Given the description of an element on the screen output the (x, y) to click on. 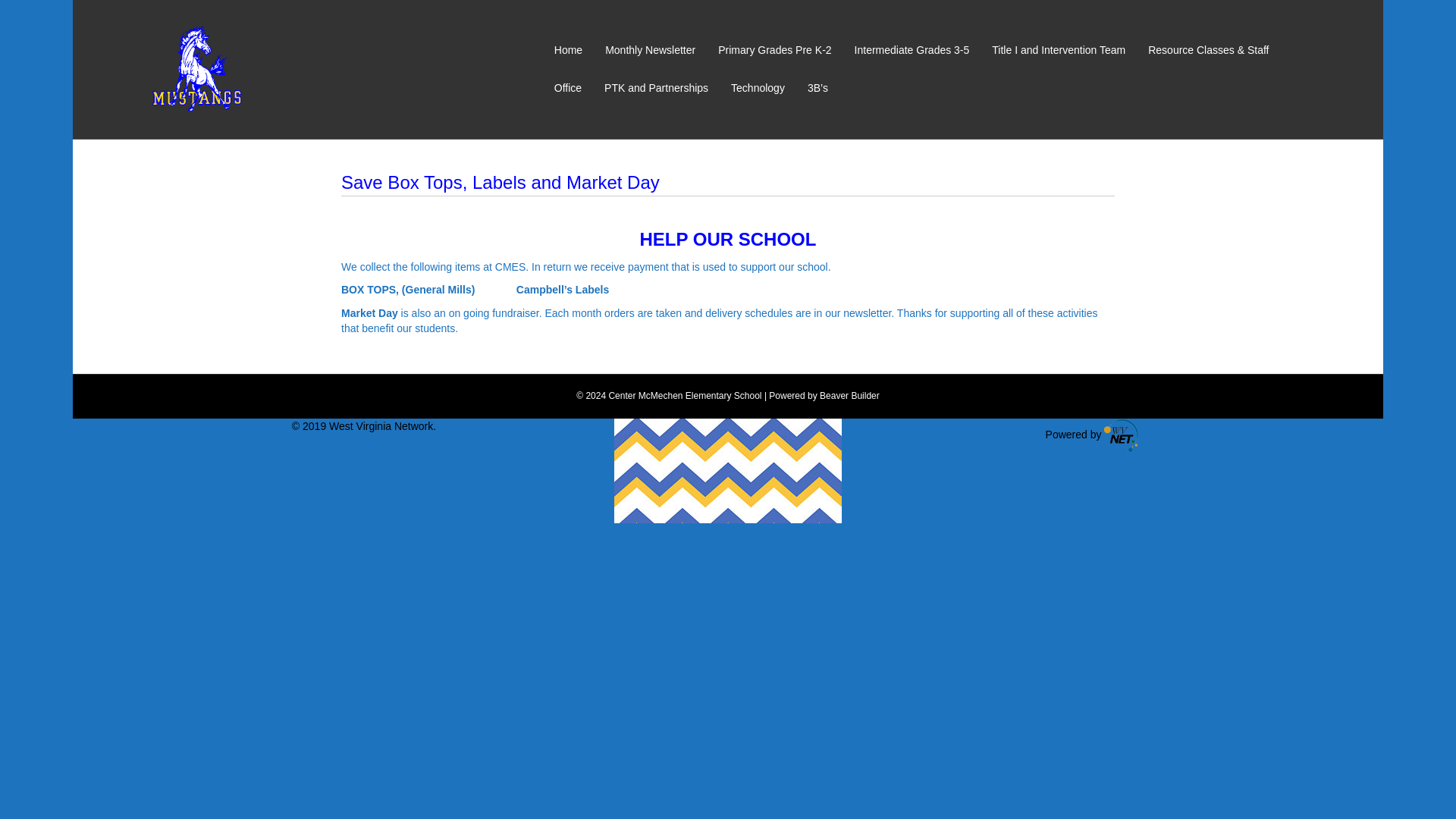
Primary Grades Pre K-2 (774, 50)
PTK and Partnerships (655, 88)
Intermediate Grades 3-5 (912, 50)
WordPress Page Builder Plugin (849, 395)
Technology (757, 88)
Home (568, 50)
Title I and Intervention Team (1058, 50)
Office (567, 88)
Monthly Newsletter (650, 50)
